Given the description of an element on the screen output the (x, y) to click on. 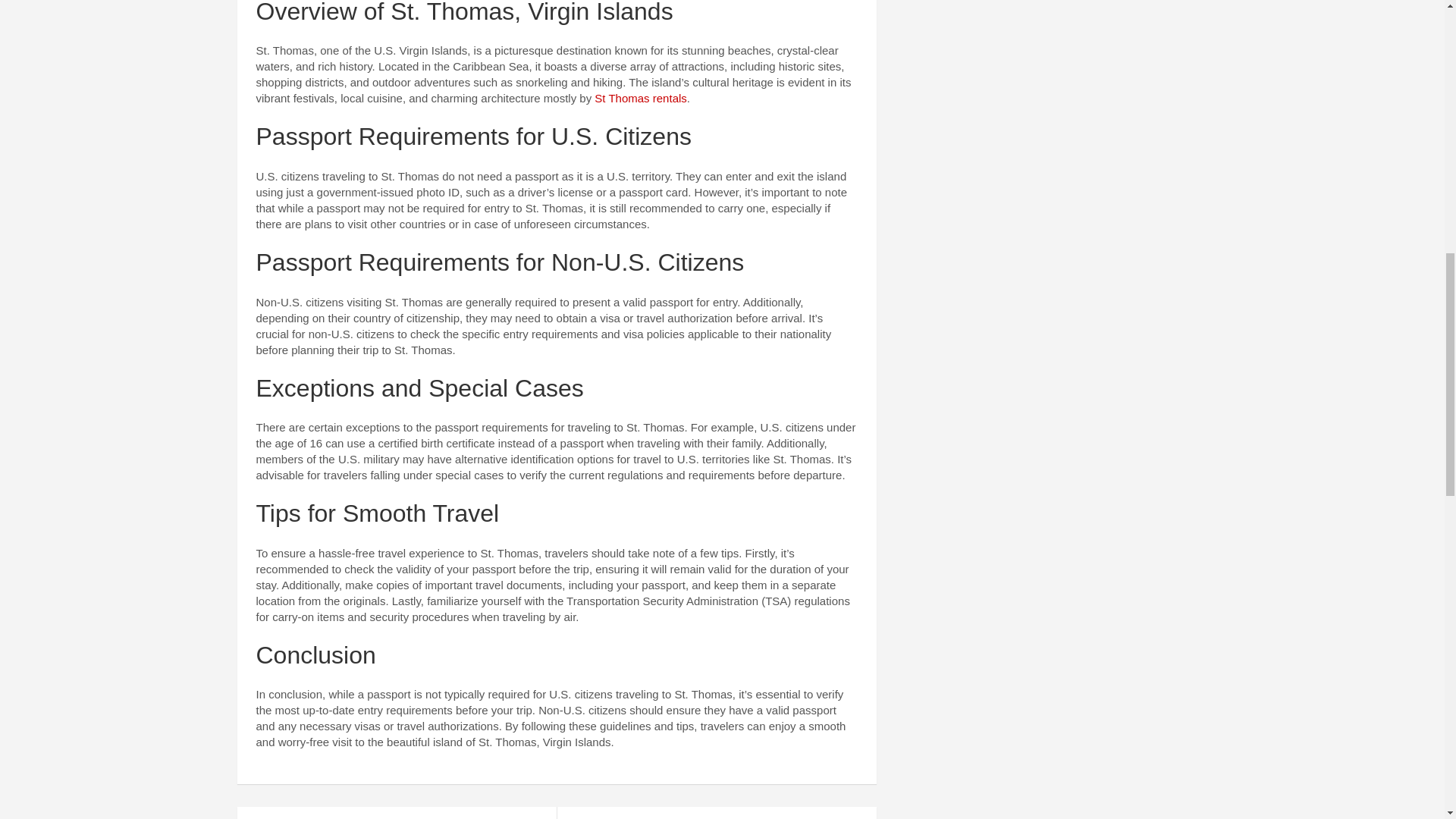
A Deep Dive into Robotics (395, 812)
St Thomas rentals (639, 97)
